Given the description of an element on the screen output the (x, y) to click on. 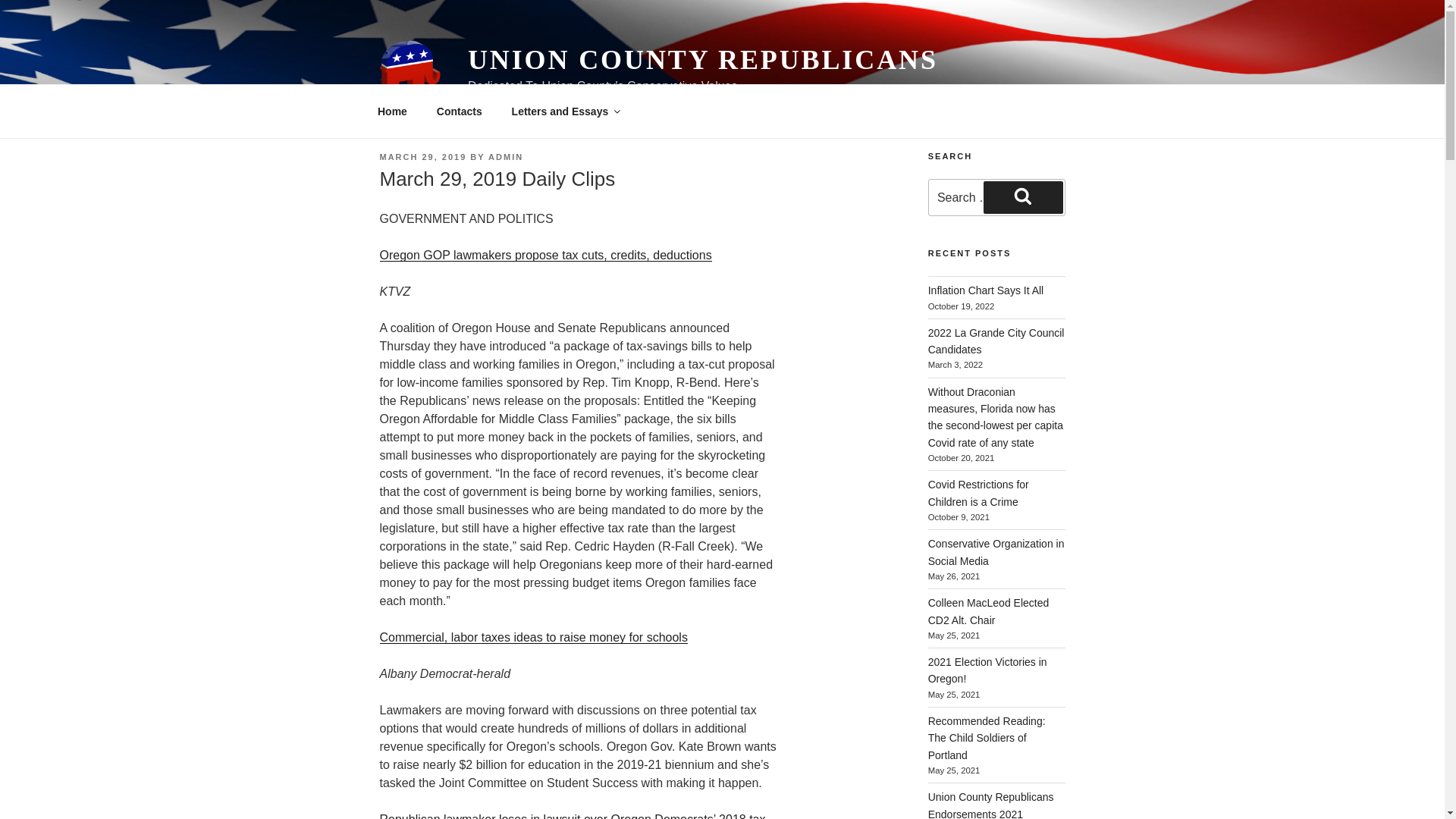
ADMIN (504, 156)
Contacts (459, 110)
Home (392, 110)
MARCH 29, 2019 (421, 156)
UNION COUNTY REPUBLICANS (702, 60)
Commercial, labor taxes ideas to raise money for schools (532, 636)
Letters and Essays (564, 110)
Oregon GOP lawmakers propose tax cuts, credits, deductions (544, 254)
